Given the description of an element on the screen output the (x, y) to click on. 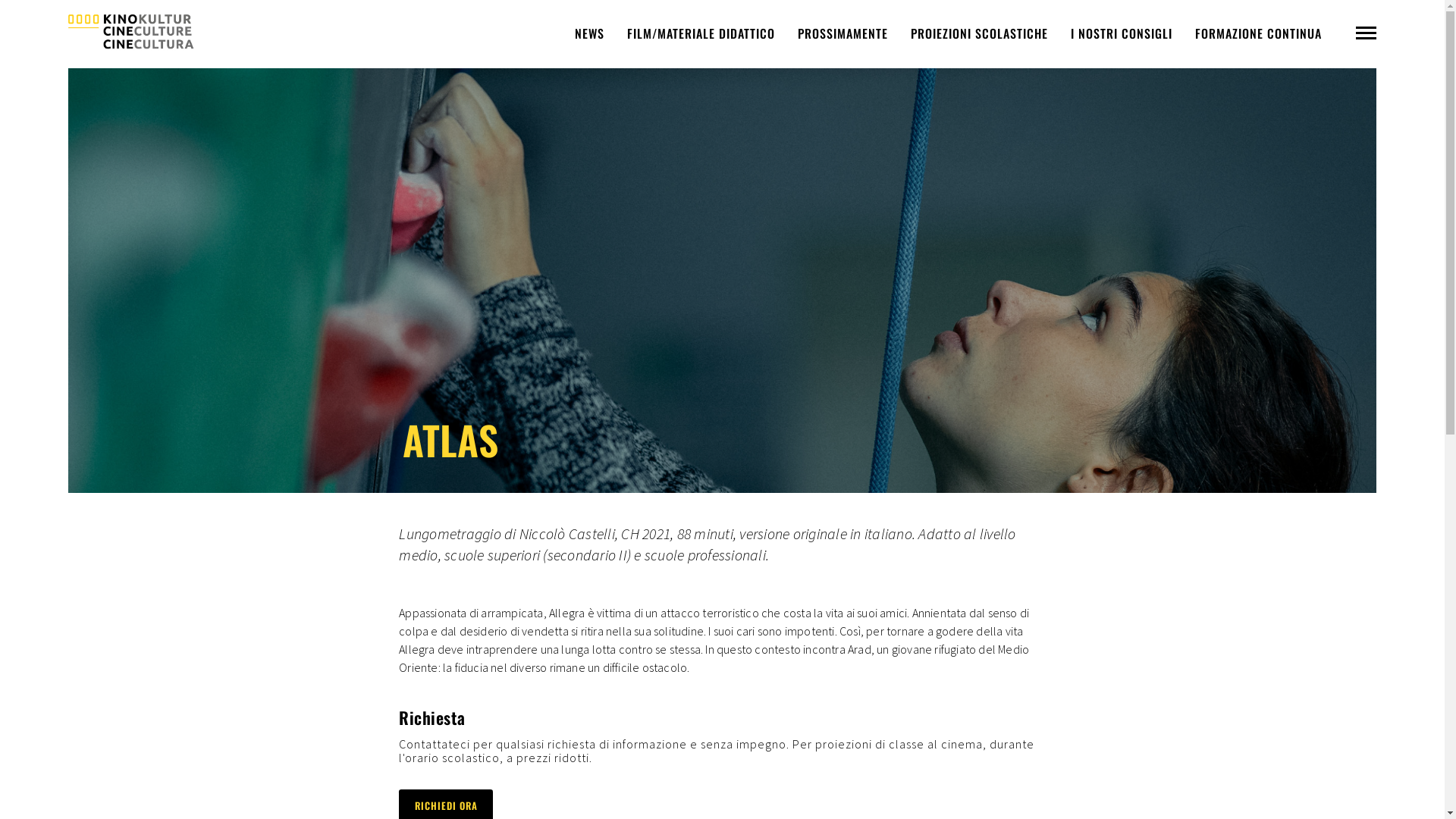
I NOSTRI CONSIGLI Element type: text (1121, 33)
FILM/MATERIALE DIDATTICO Element type: text (701, 33)
PROSSIMAMENTE Element type: text (842, 33)
NEWS Element type: text (589, 33)
RICHIEDI ORA Element type: text (445, 805)
FORMAZIONE CONTINUA Element type: text (1258, 33)
PROIEZIONI SCOLASTICHE Element type: text (979, 33)
